Given the description of an element on the screen output the (x, y) to click on. 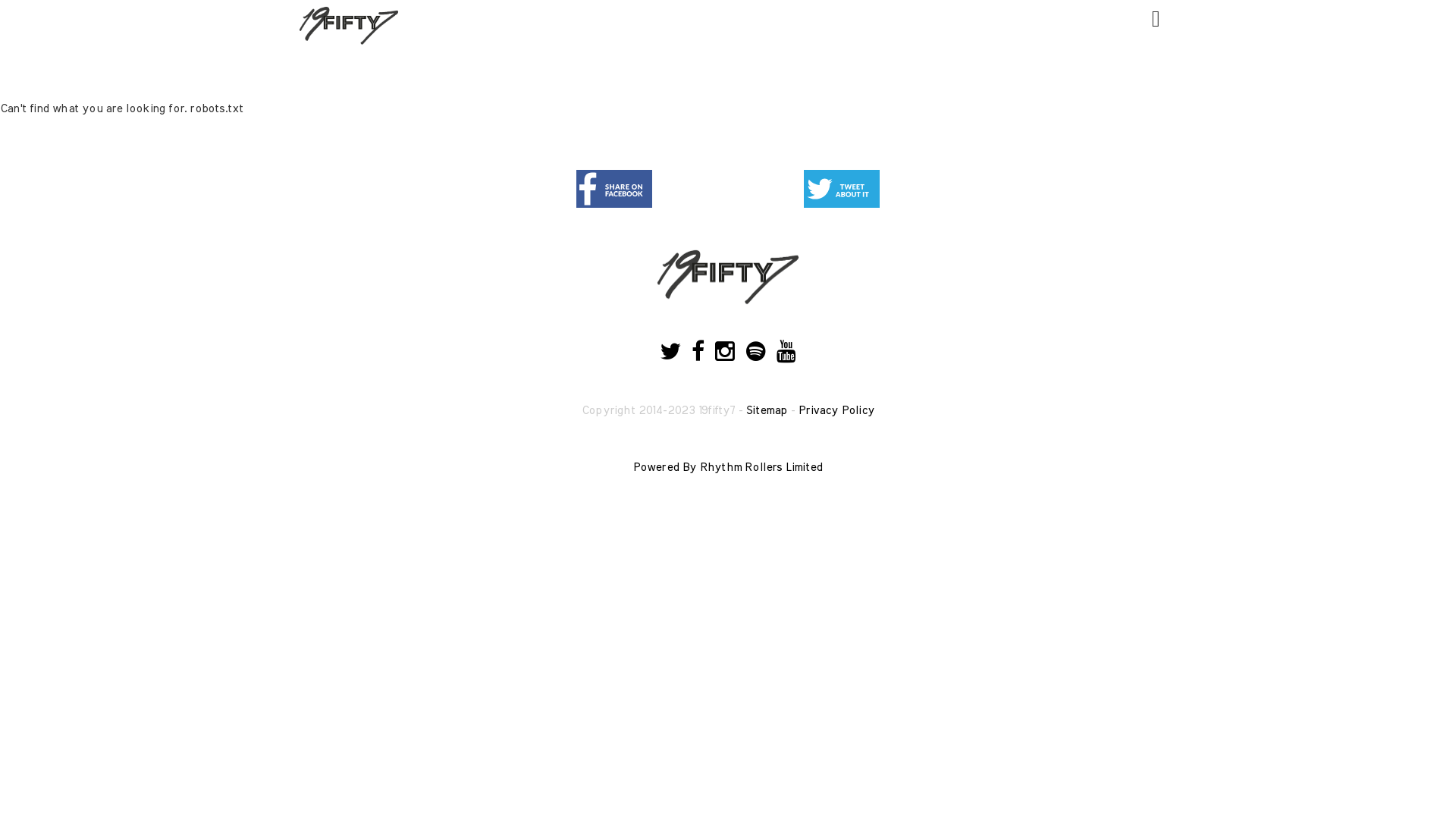
Sitemap Element type: text (766, 410)
Privacy Policy Element type: text (836, 410)
Powered By Rhythm Rollers Limited Element type: text (728, 467)
Twitter Element type: hover (841, 188)
